Given the description of an element on the screen output the (x, y) to click on. 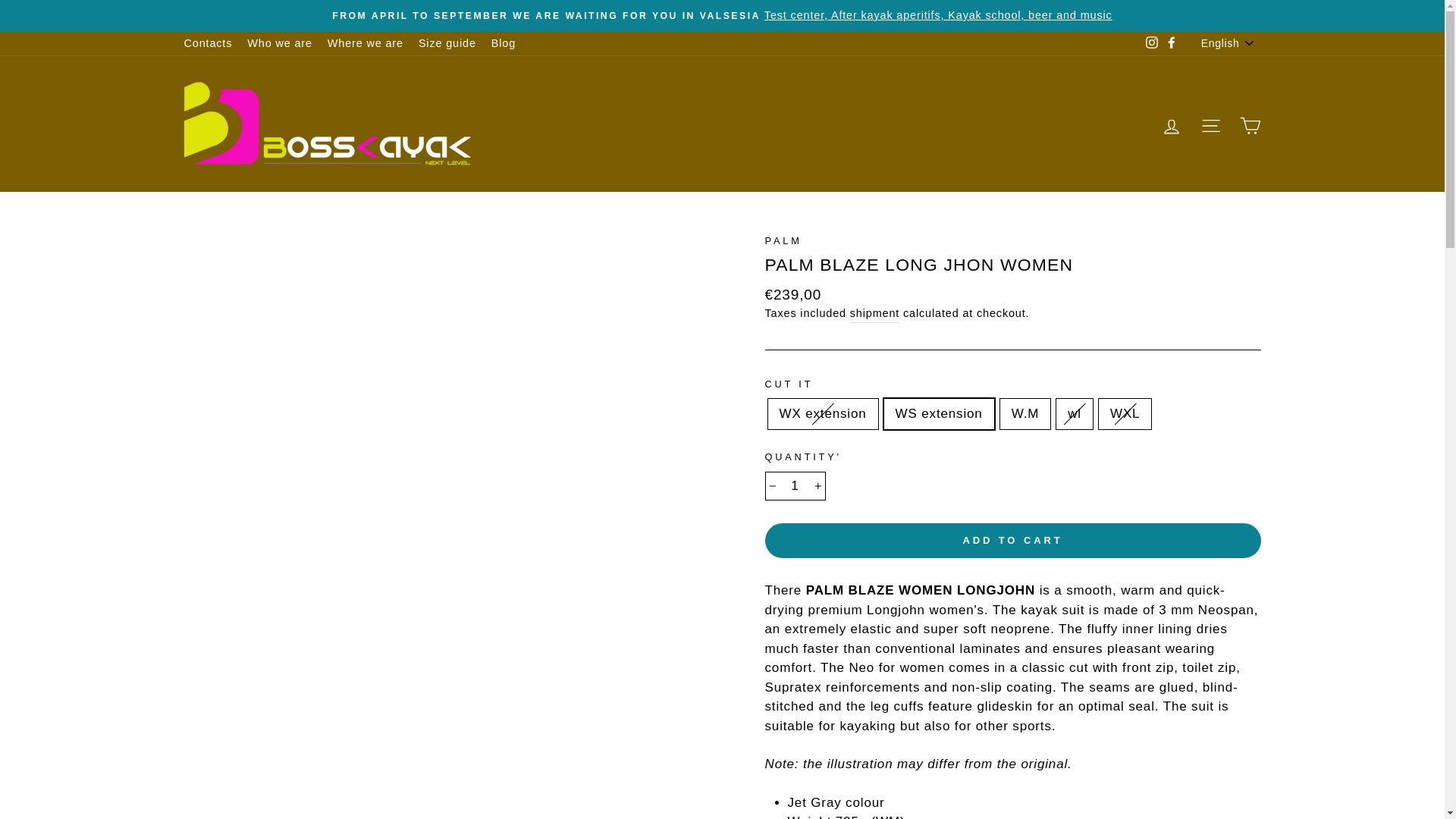
1 (794, 485)
PALM (783, 240)
